Given the description of an element on the screen output the (x, y) to click on. 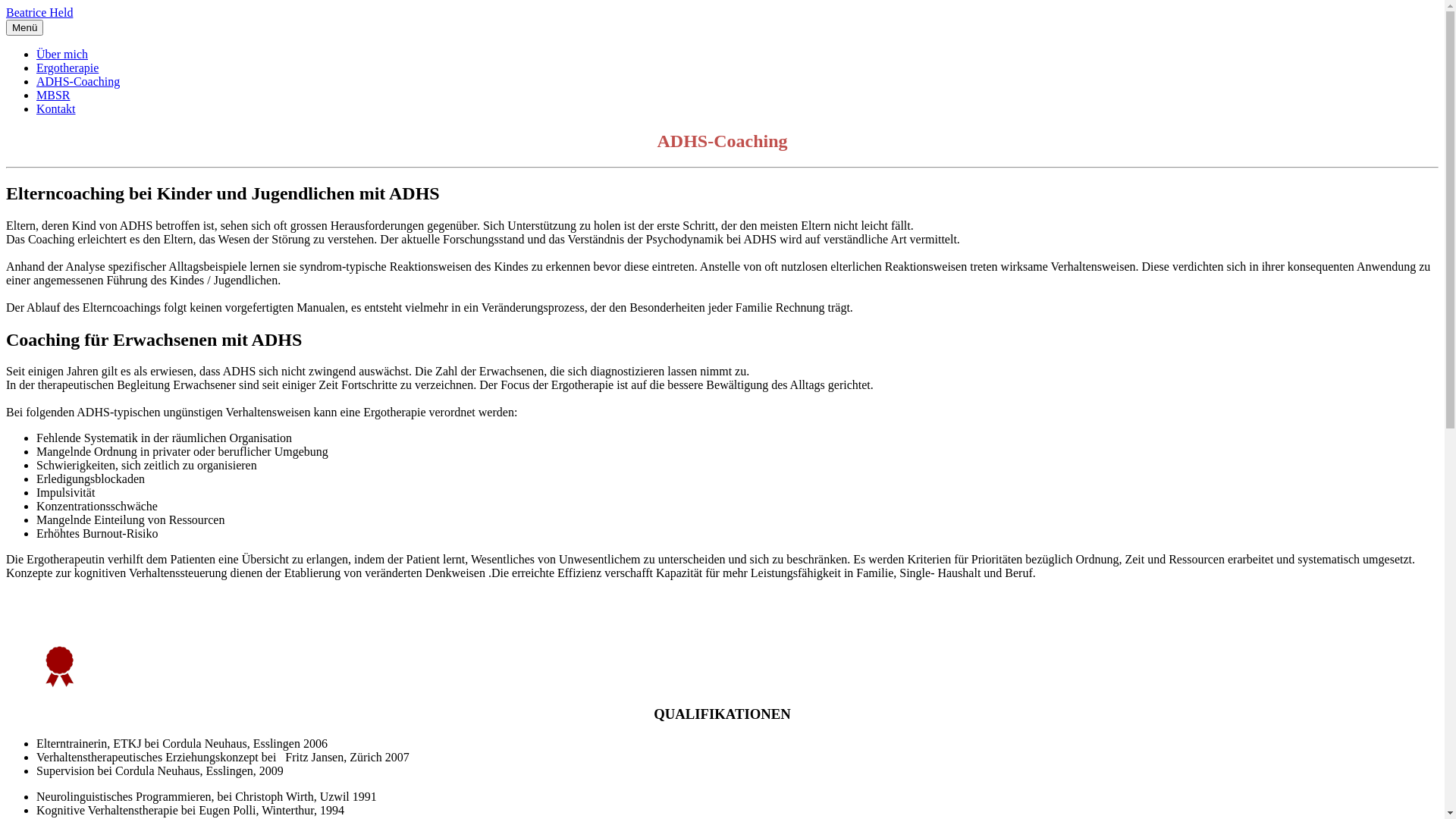
Kontakt Element type: text (55, 108)
MBSR Element type: text (52, 94)
Ergotherapie Element type: text (67, 67)
ADHS-Coaching Element type: text (77, 81)
Beatrice Held Element type: text (39, 12)
